Given the description of an element on the screen output the (x, y) to click on. 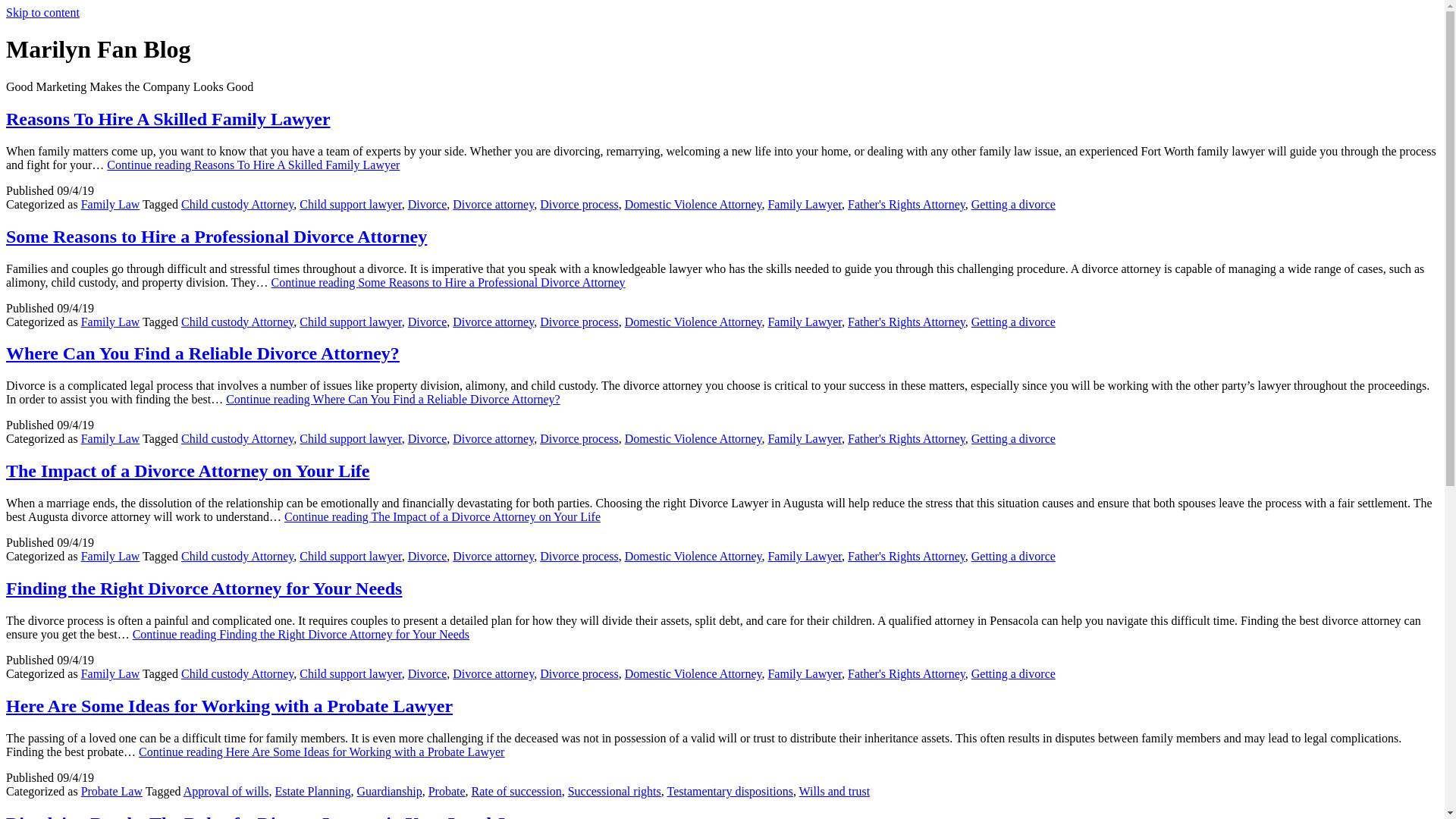
Father's Rights Attorney (906, 321)
Domestic Violence Attorney (692, 204)
Divorce process (579, 438)
Child custody Attorney (237, 438)
Father's Rights Attorney (906, 204)
Divorce process (579, 204)
Child support lawyer (350, 438)
The Impact of a Divorce Attorney on Your Life (187, 470)
Child custody Attorney (237, 204)
Getting a divorce (1013, 321)
Getting a divorce (1013, 438)
Skip to content (42, 11)
Family Law (110, 438)
